Given the description of an element on the screen output the (x, y) to click on. 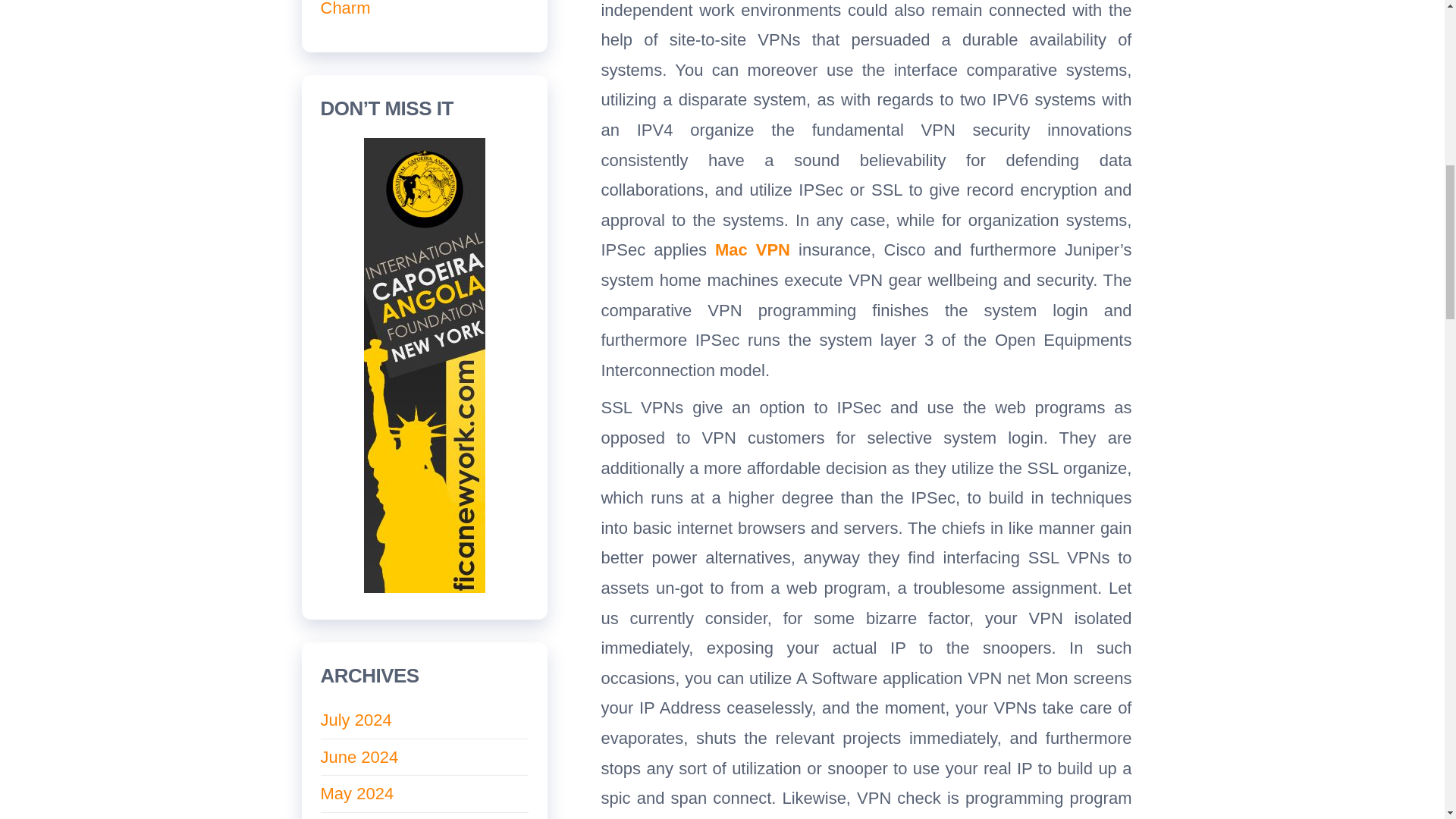
May 2024 (356, 793)
July 2024 (355, 719)
June 2024 (358, 756)
Mac VPN (752, 249)
